Given the description of an element on the screen output the (x, y) to click on. 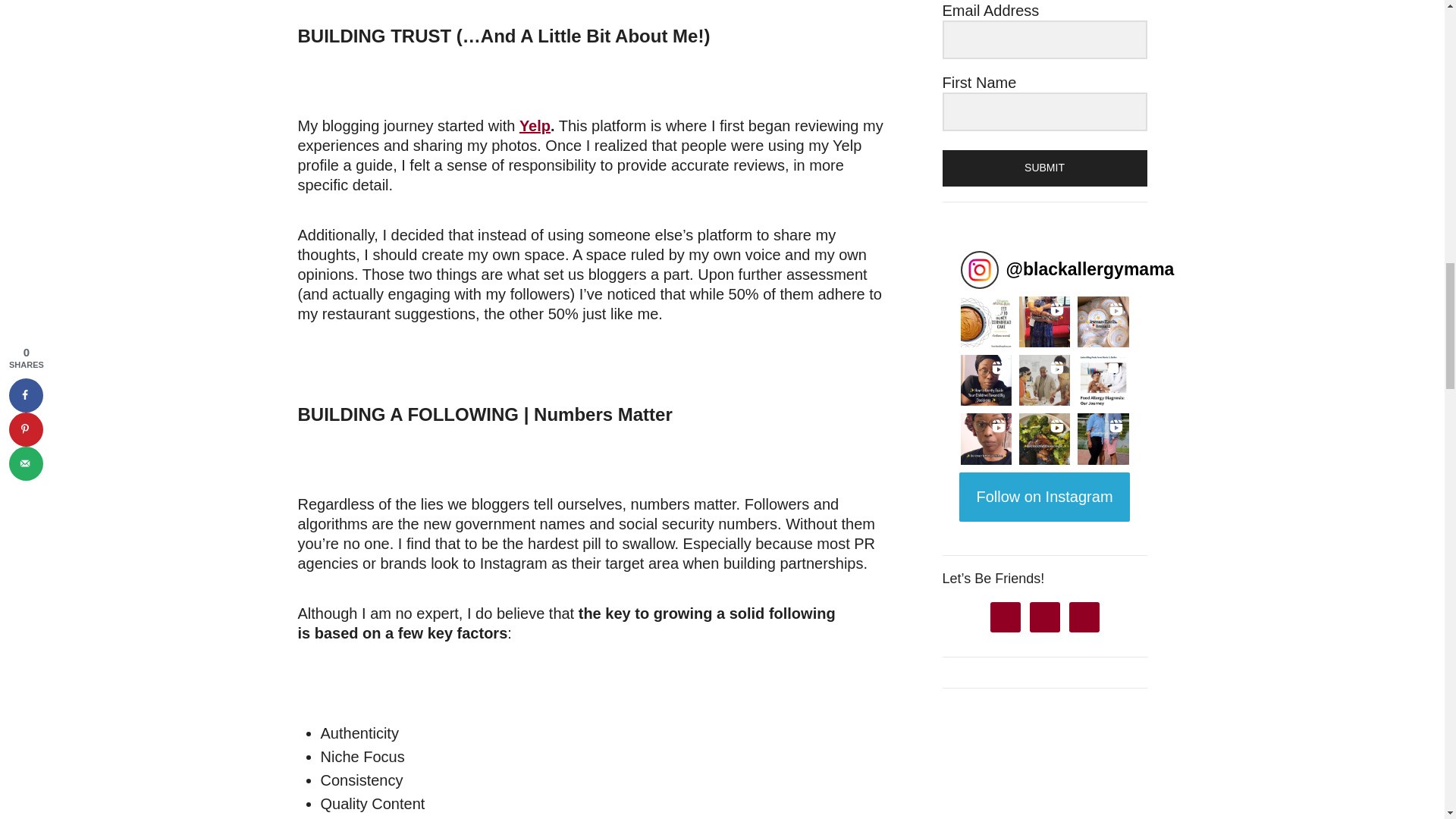
Yelp (534, 125)
